Given the description of an element on the screen output the (x, y) to click on. 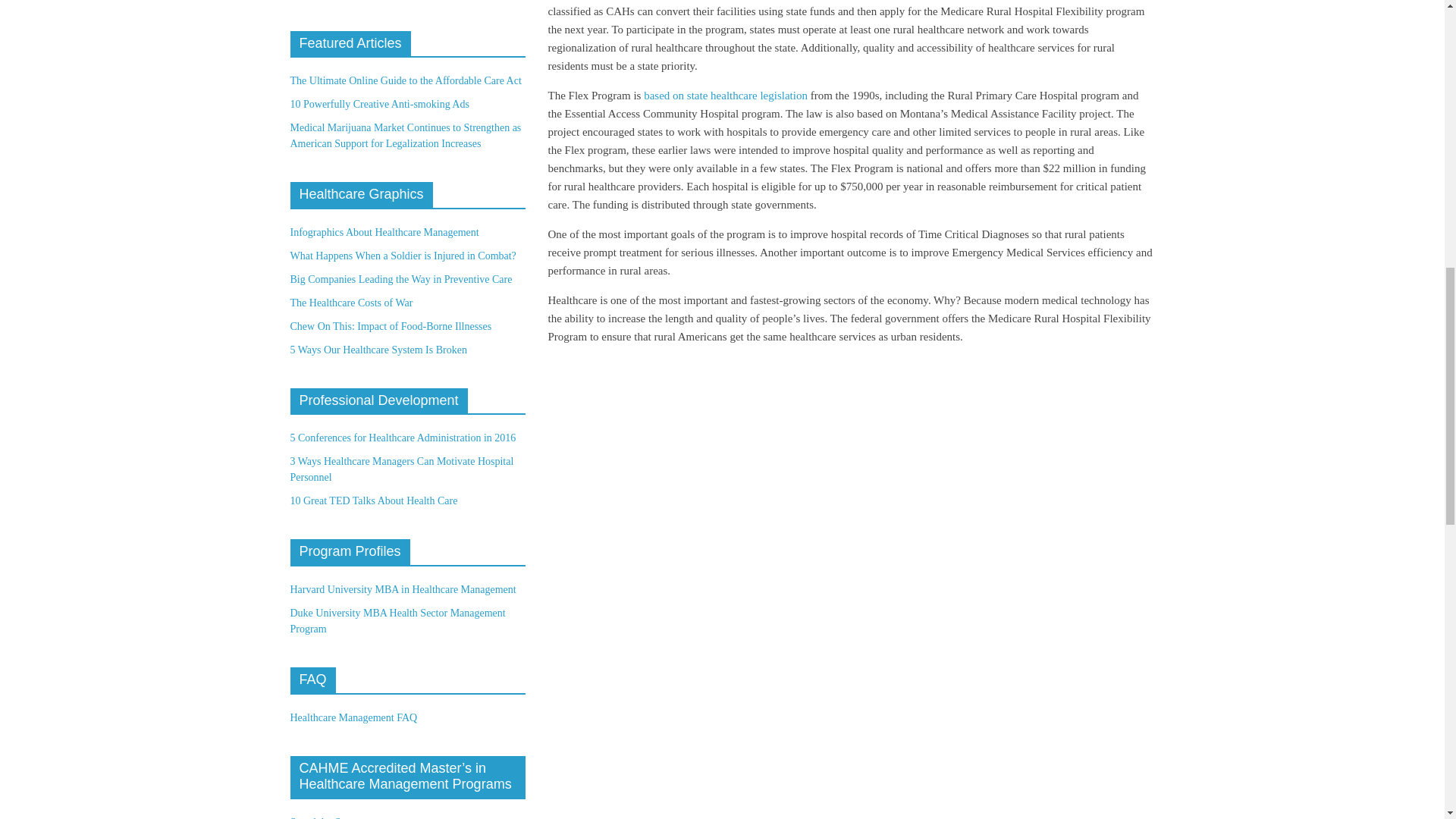
Healthcare Management FAQ (352, 717)
10 Great TED Talks About Health Care (373, 500)
Duke University MBA Health Sector Management Program (397, 620)
5 Ways Our Healthcare System Is Broken (377, 349)
The Healthcare Costs of War (350, 302)
10 Powerfully Creative Anti-smoking Ads (378, 103)
What Happens When a Soldier is Injured in Combat? (402, 255)
5 Conferences for Healthcare Administration in 2016 (402, 437)
Harvard University MBA in Healthcare Management (402, 589)
Big Companies Leading the Way in Preventive Care (400, 279)
Search by State (322, 817)
based on state healthcare legislation (725, 95)
The Ultimate Online Guide to the Affordable Care Act (405, 80)
Chew On This: Impact of Food-Borne Illnesses (390, 326)
